Given the description of an element on the screen output the (x, y) to click on. 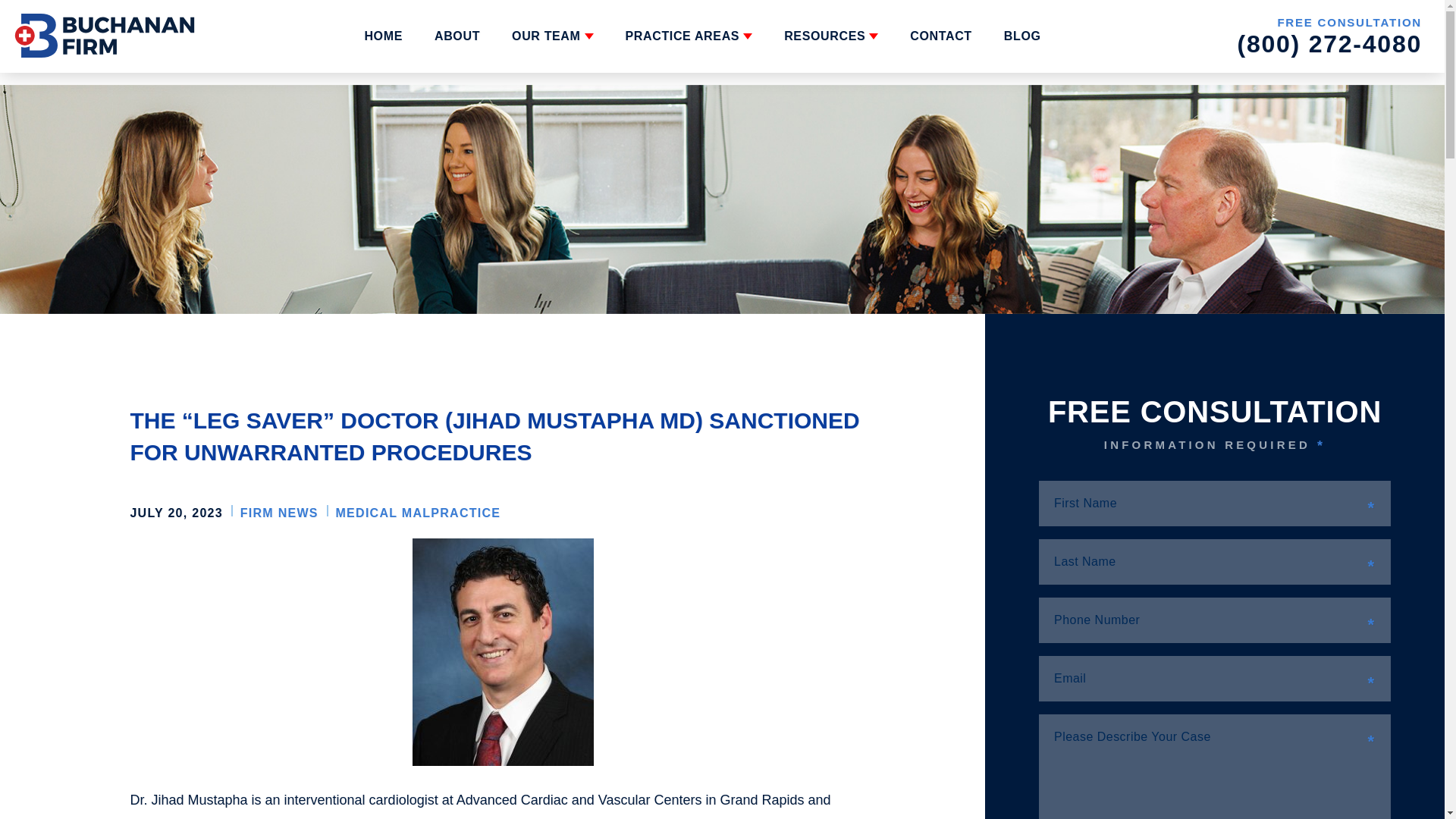
MEDICAL MALPRACTICE (417, 512)
HOME (383, 35)
CONTACT (941, 35)
PRACTICE AREAS (689, 35)
RESOURCES (830, 35)
FIRM NEWS (279, 512)
BLOG (1022, 35)
OUR TEAM (552, 35)
ABOUT (456, 35)
